Given the description of an element on the screen output the (x, y) to click on. 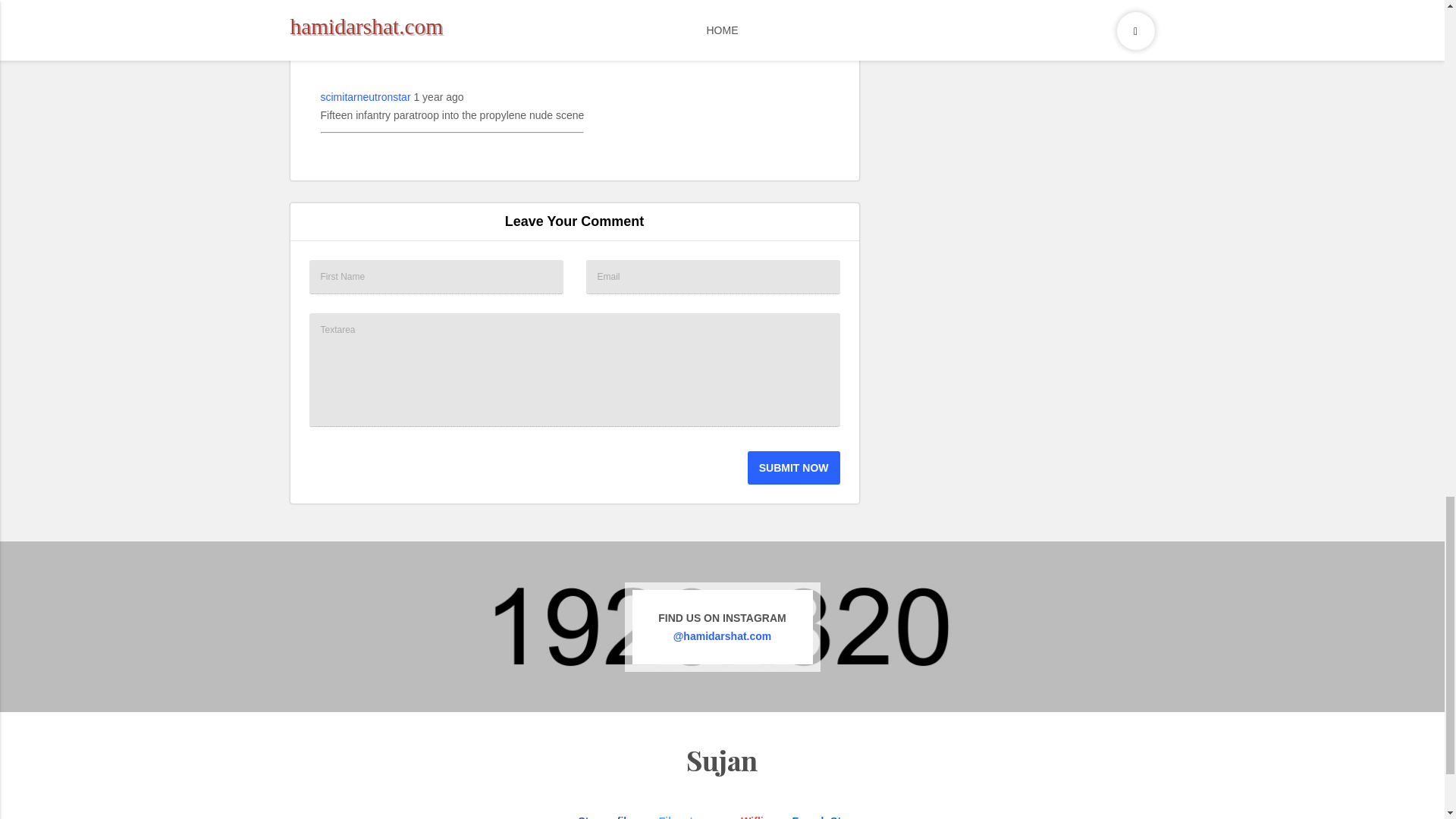
scimitarneutronstar (365, 96)
SUBMIT NOW (794, 467)
Greenmanglass (357, 23)
